Given the description of an element on the screen output the (x, y) to click on. 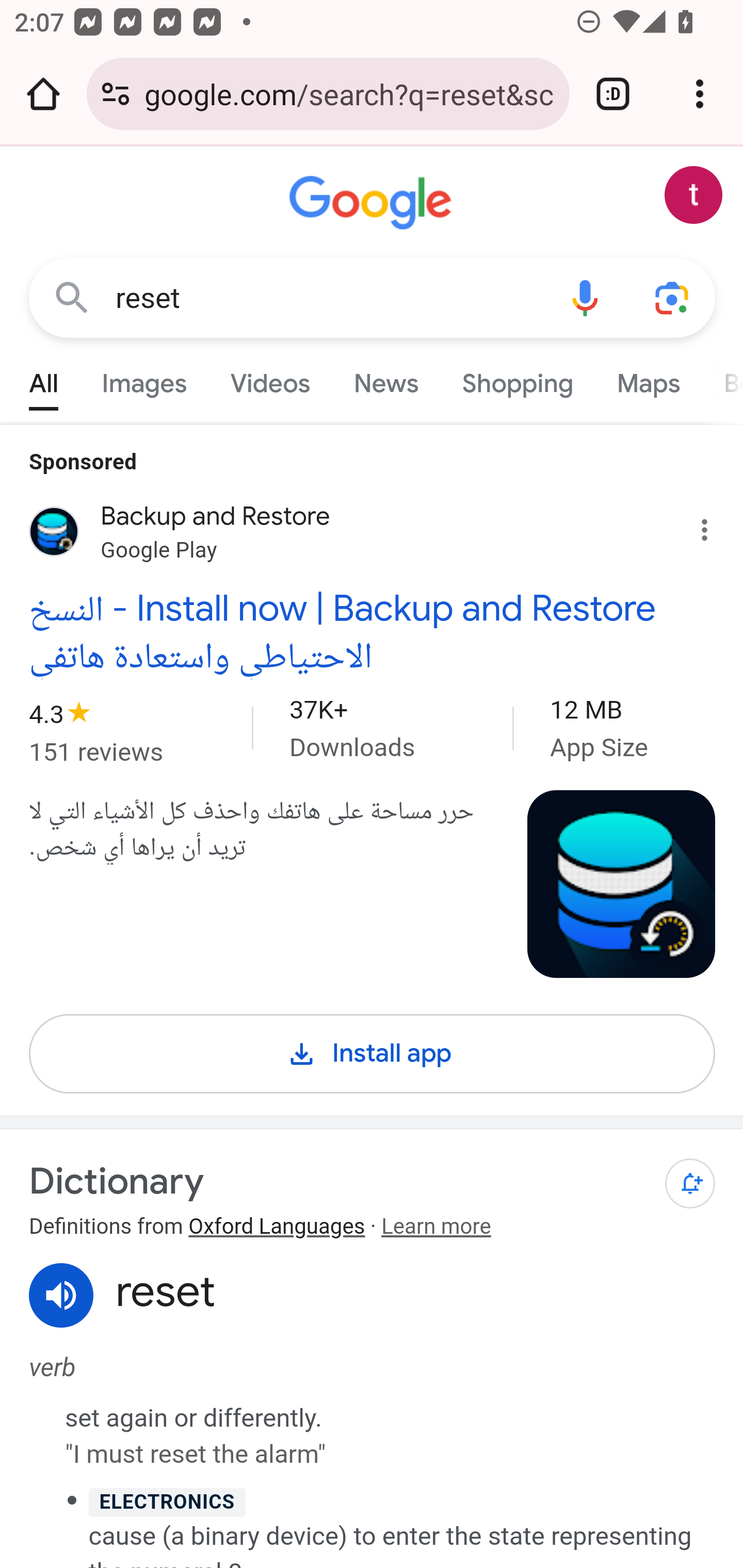
Open the home page (43, 93)
Connection is secure (115, 93)
Switch or close tabs (612, 93)
Customize and control Google Chrome (699, 93)
